Given the description of an element on the screen output the (x, y) to click on. 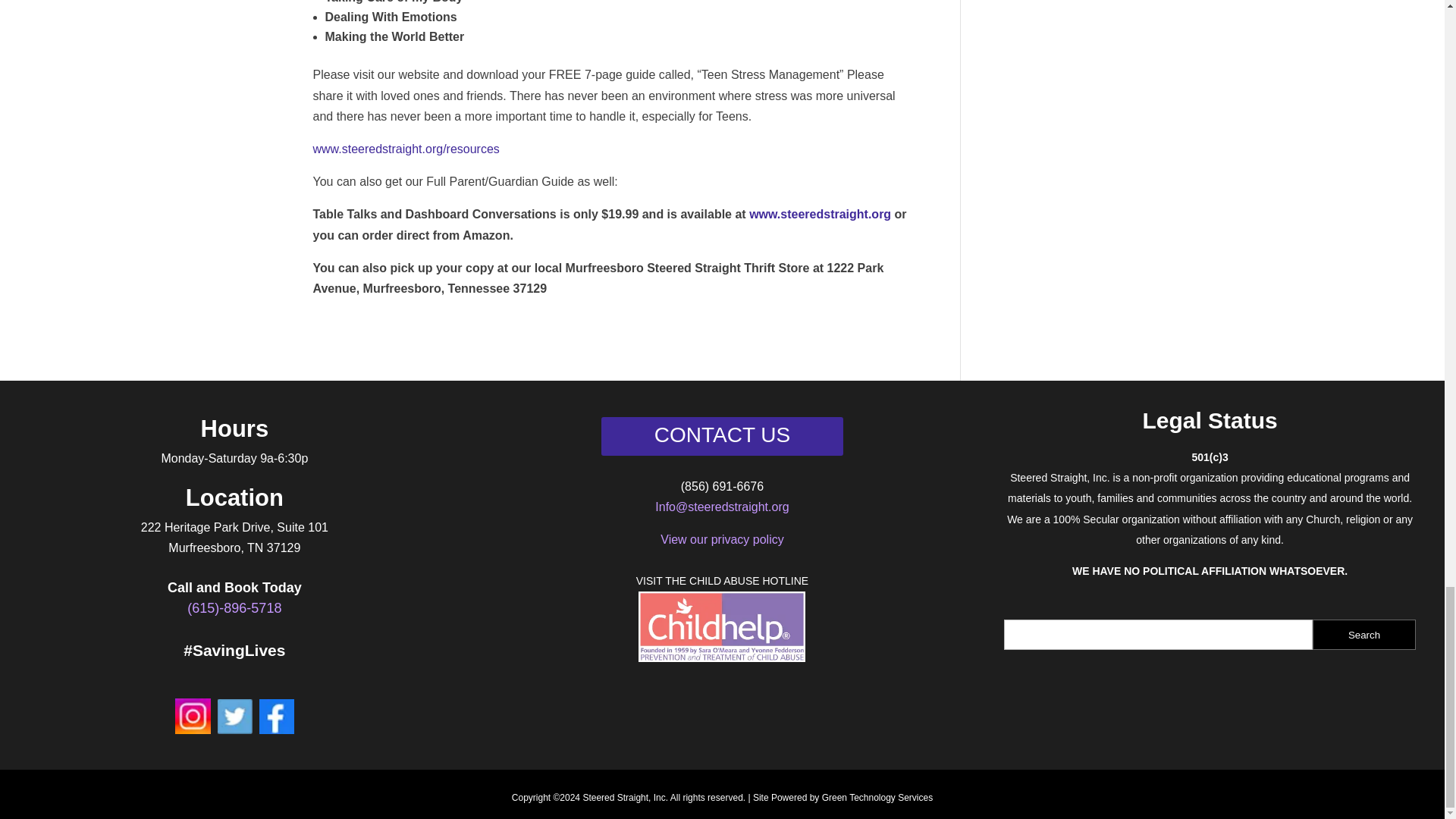
Search (1364, 634)
